Given the description of an element on the screen output the (x, y) to click on. 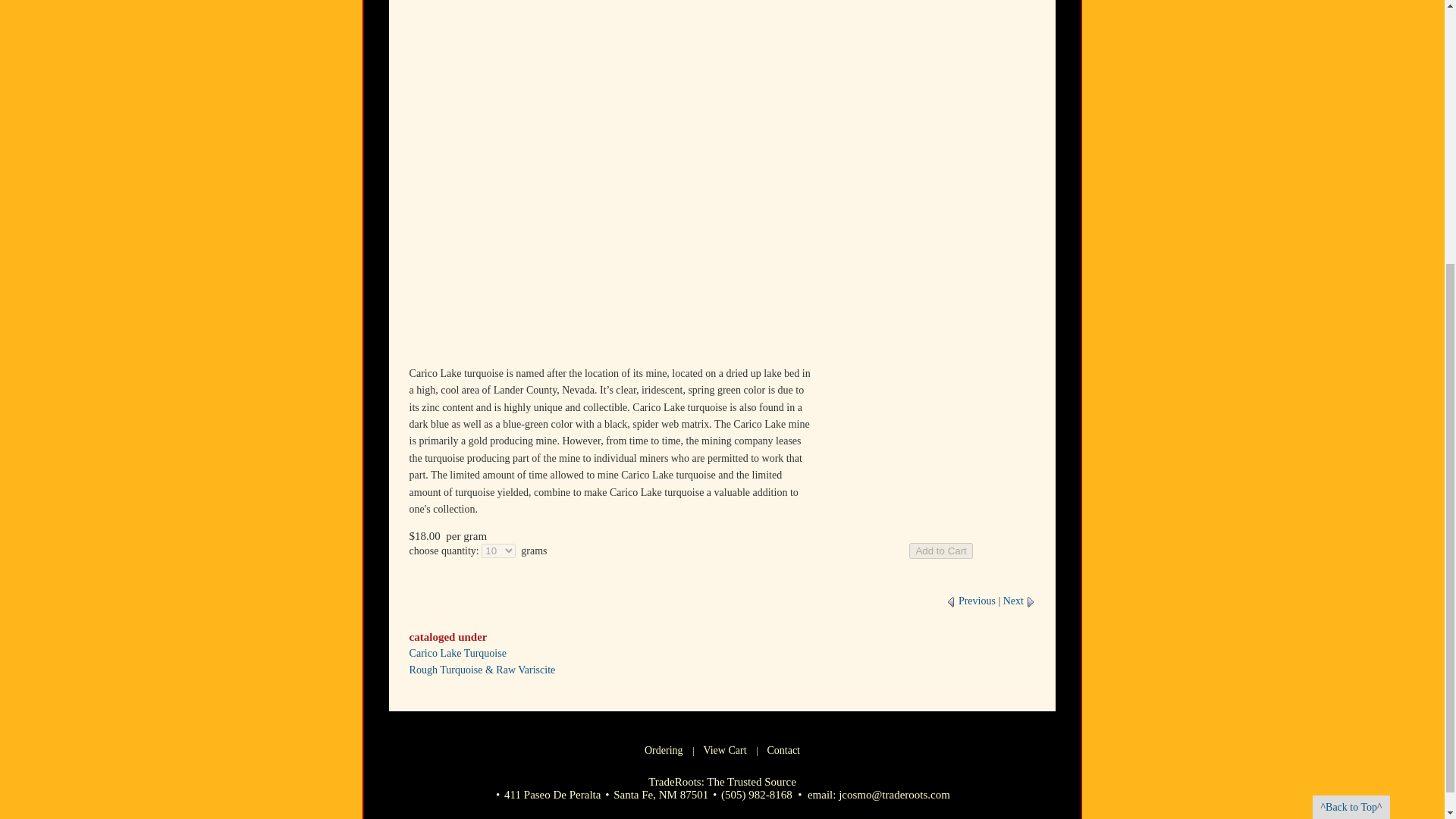
Add to Cart (940, 550)
